Given the description of an element on the screen output the (x, y) to click on. 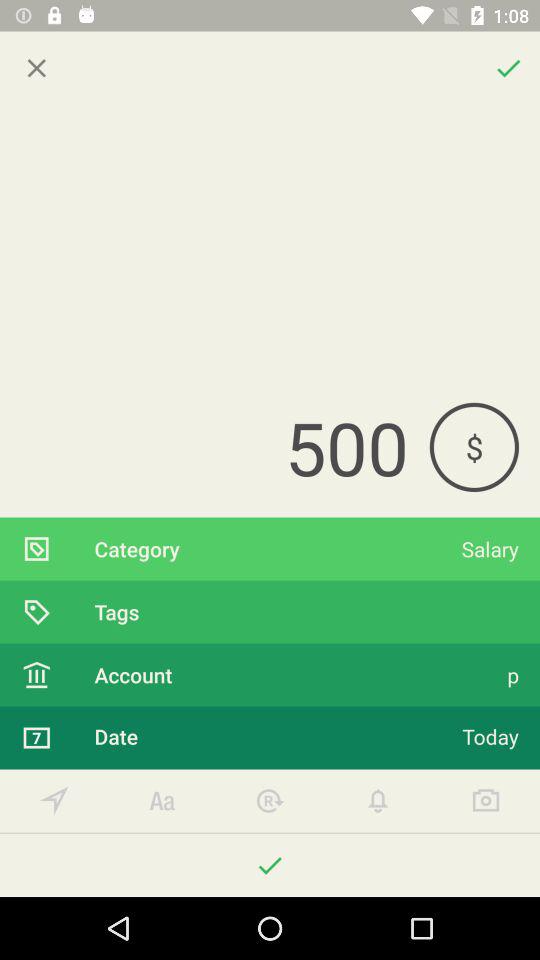
tap icon to the left of $ item (214, 447)
